Given the description of an element on the screen output the (x, y) to click on. 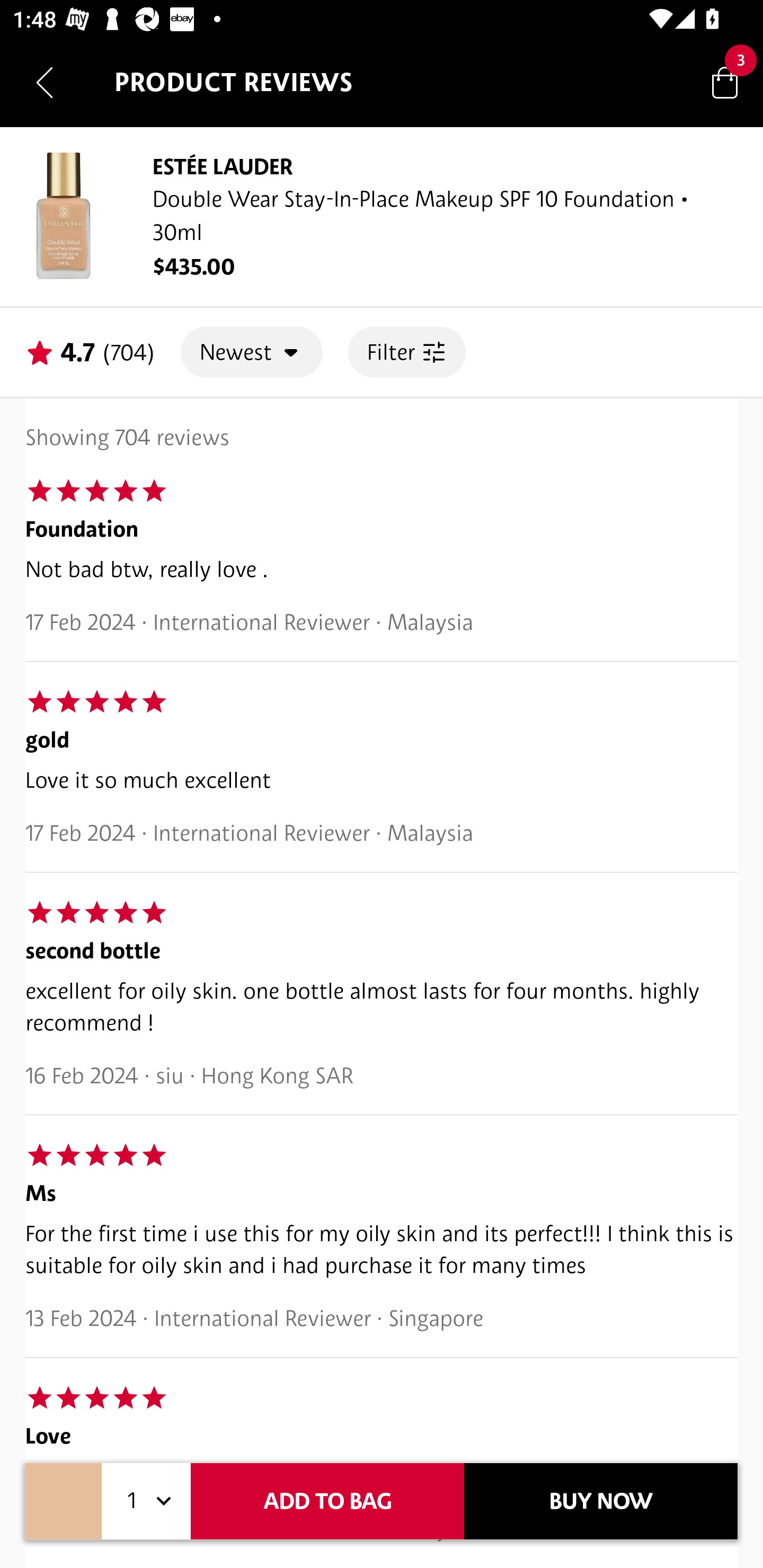
Navigate up (44, 82)
Bag (724, 81)
Newest (251, 351)
Filter (406, 351)
1 (145, 1500)
ADD TO BAG (326, 1500)
BUY NOW (600, 1500)
